Given the description of an element on the screen output the (x, y) to click on. 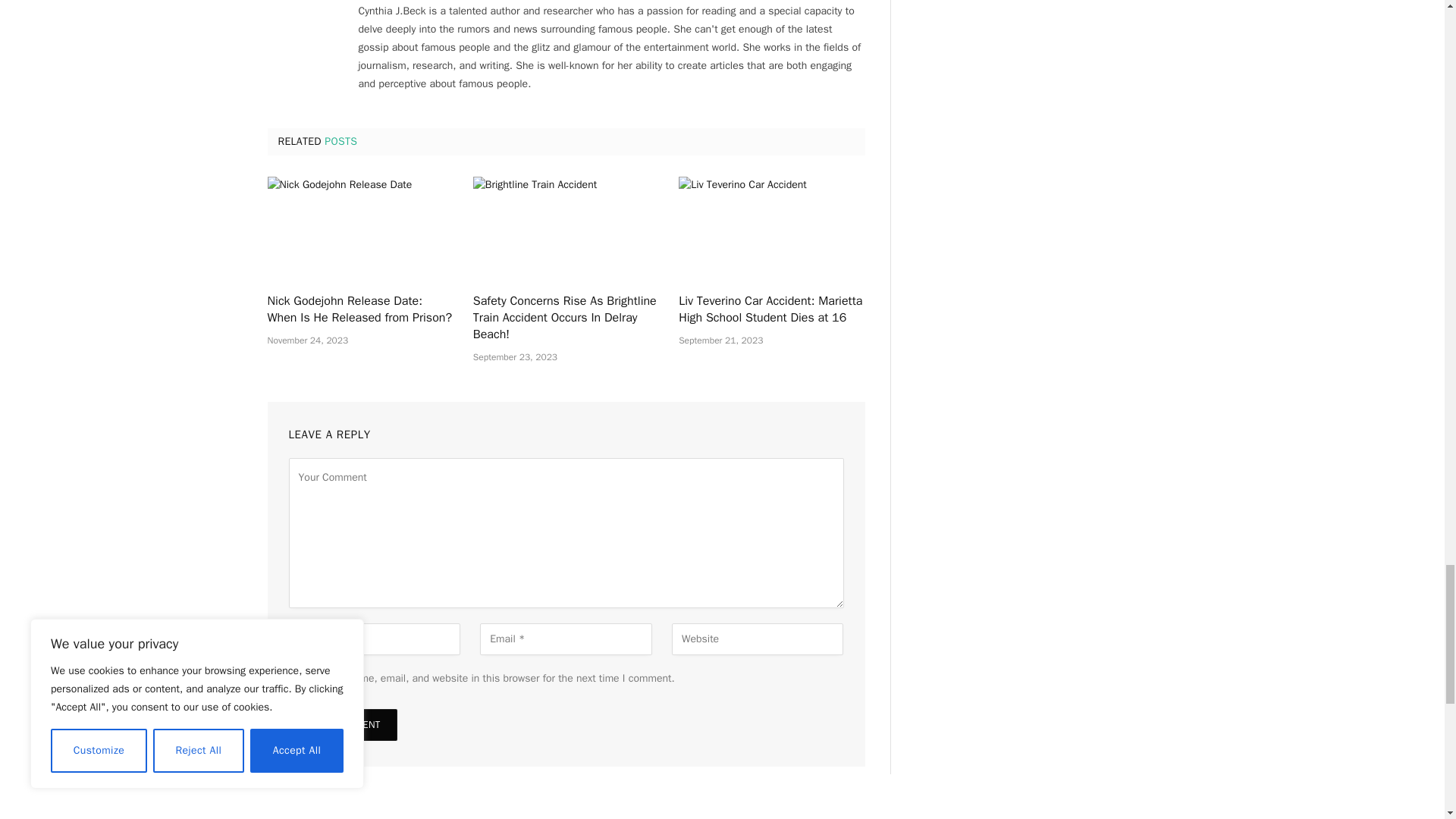
Post Comment (342, 725)
yes (293, 676)
